Given the description of an element on the screen output the (x, y) to click on. 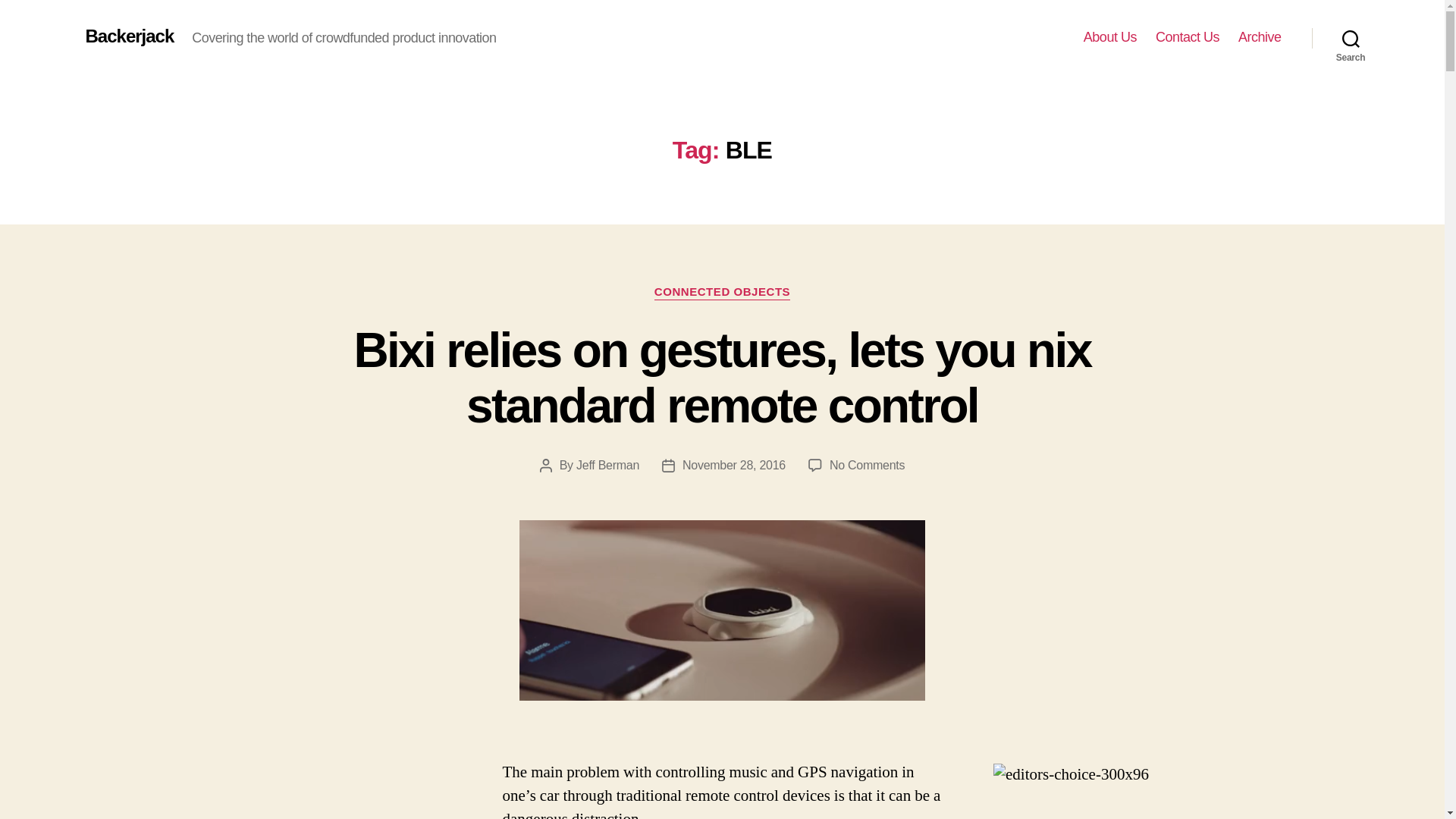
Search (1350, 37)
About Us (1110, 37)
Contact Us (1188, 37)
Backerjack (128, 36)
CONNECTED OBJECTS (721, 292)
November 28, 2016 (734, 464)
Jeff Berman (607, 464)
Archive (1260, 37)
